Given the description of an element on the screen output the (x, y) to click on. 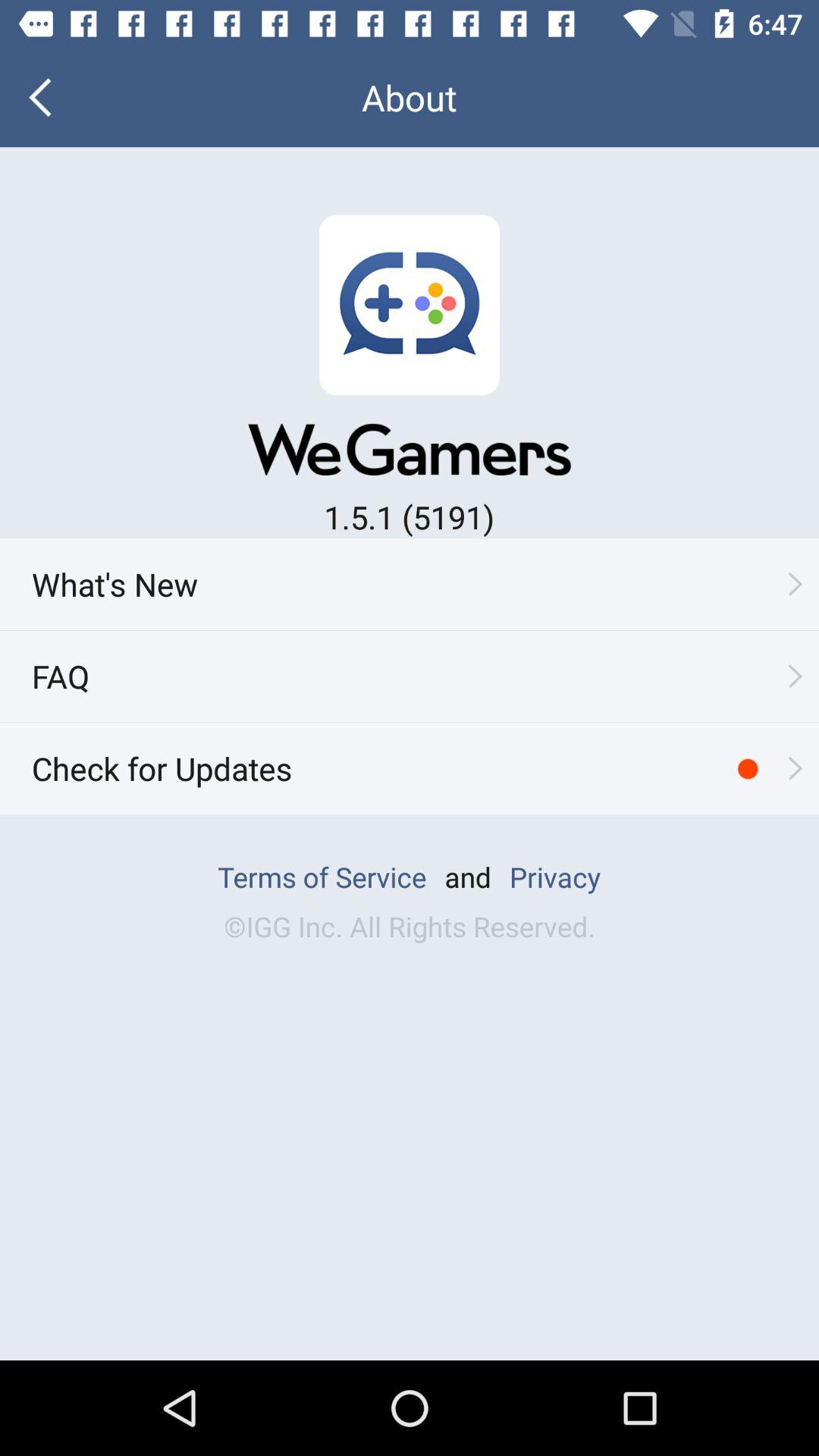
click on privacy which is at bottom of the page (554, 877)
select the text left of and (321, 877)
